Given the description of an element on the screen output the (x, y) to click on. 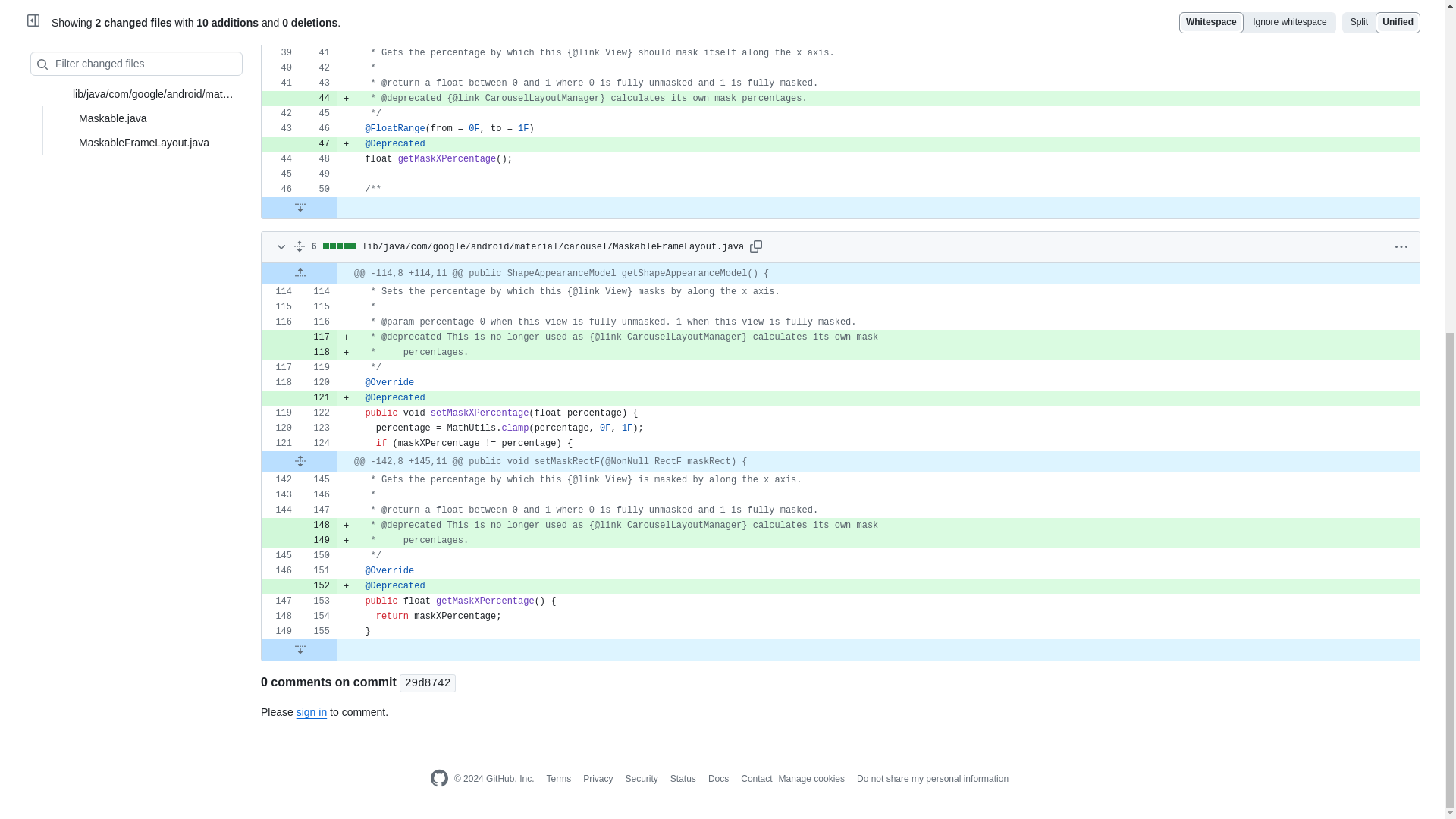
GitHub (438, 778)
